Given the description of an element on the screen output the (x, y) to click on. 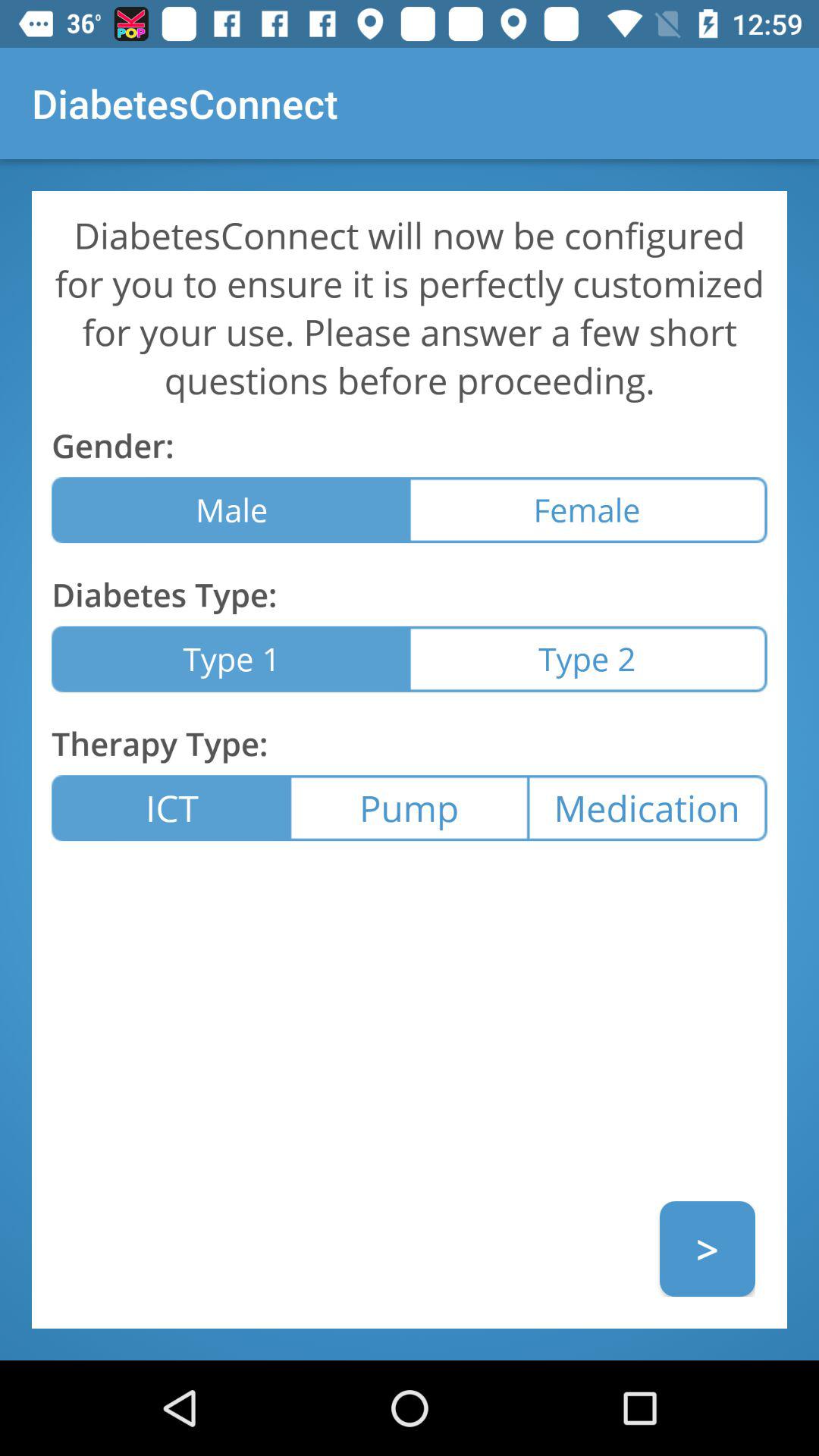
tap the item below the medication (707, 1248)
